Given the description of an element on the screen output the (x, y) to click on. 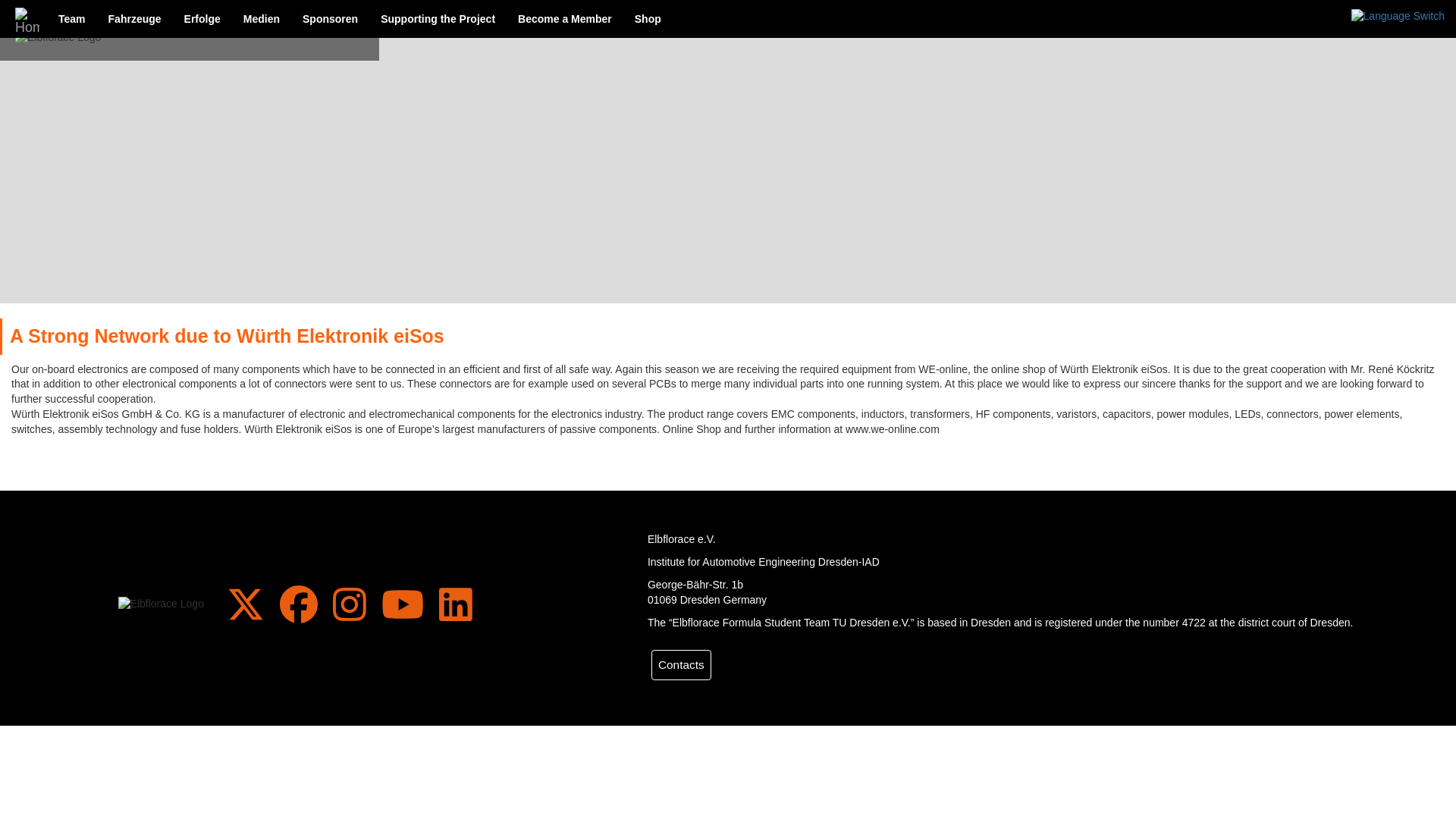
Become a Member (564, 18)
Erfolge (202, 18)
Sponsoren (330, 18)
Contacts (680, 665)
Medien (261, 18)
Fahrzeuge (135, 18)
Shop (647, 18)
Supporting the Project (437, 18)
Team (71, 18)
